Given the description of an element on the screen output the (x, y) to click on. 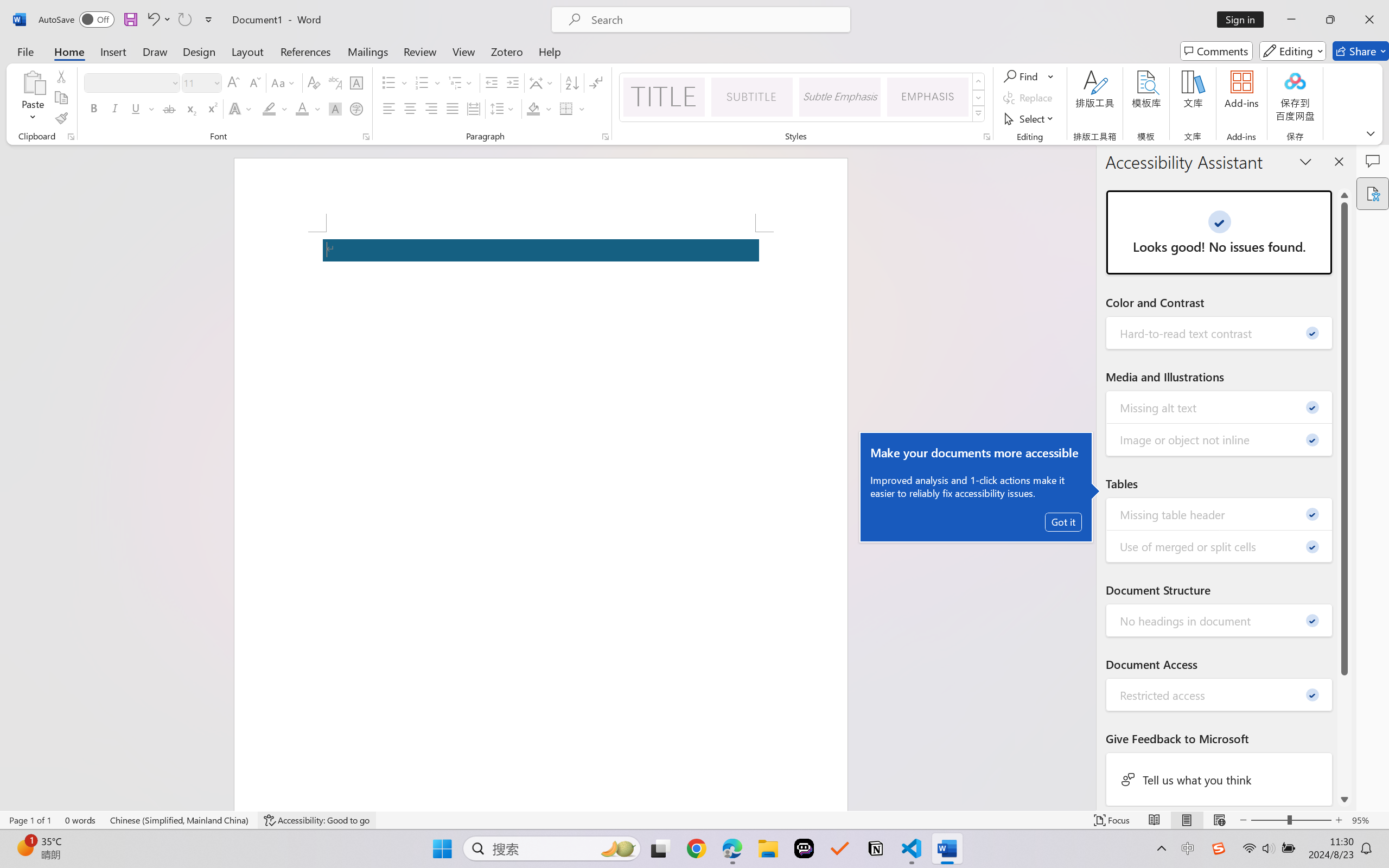
Undo Apply Quick Style Set (158, 19)
Emphasis (927, 96)
Language Chinese (Simplified, Mainland China) (179, 819)
Hard-to-read text contrast - 0 (1219, 332)
